Given the description of an element on the screen output the (x, y) to click on. 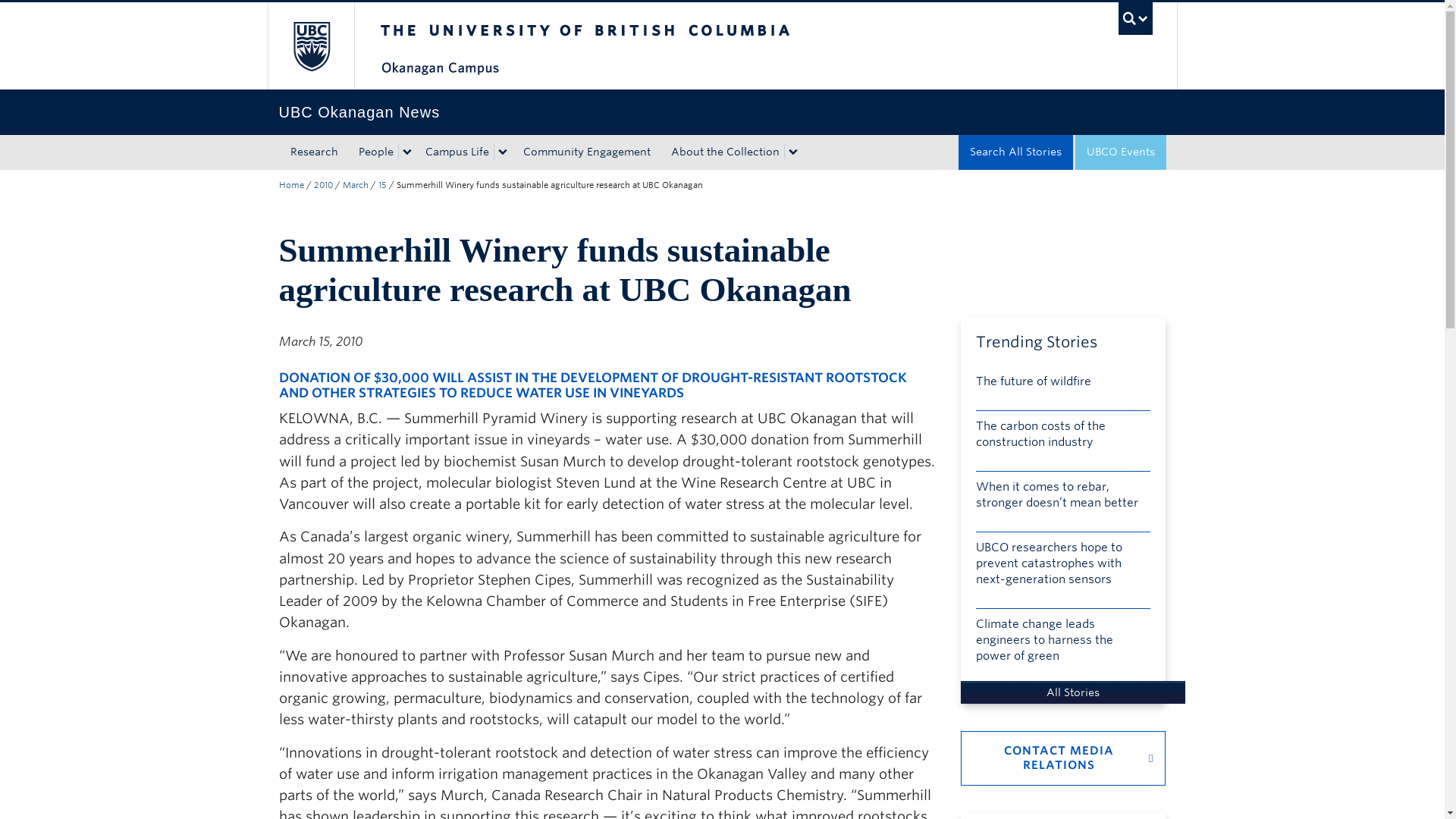
The future of wildfire (1062, 385)
UBC Okanagan News (722, 112)
UBC Okanagan News (722, 112)
The University of British Columbia (635, 45)
Community Engagement (586, 151)
Campus Life (453, 151)
UBC Okanagan News (291, 184)
2010 (323, 184)
Research (314, 151)
UBC Search (1135, 18)
